Given the description of an element on the screen output the (x, y) to click on. 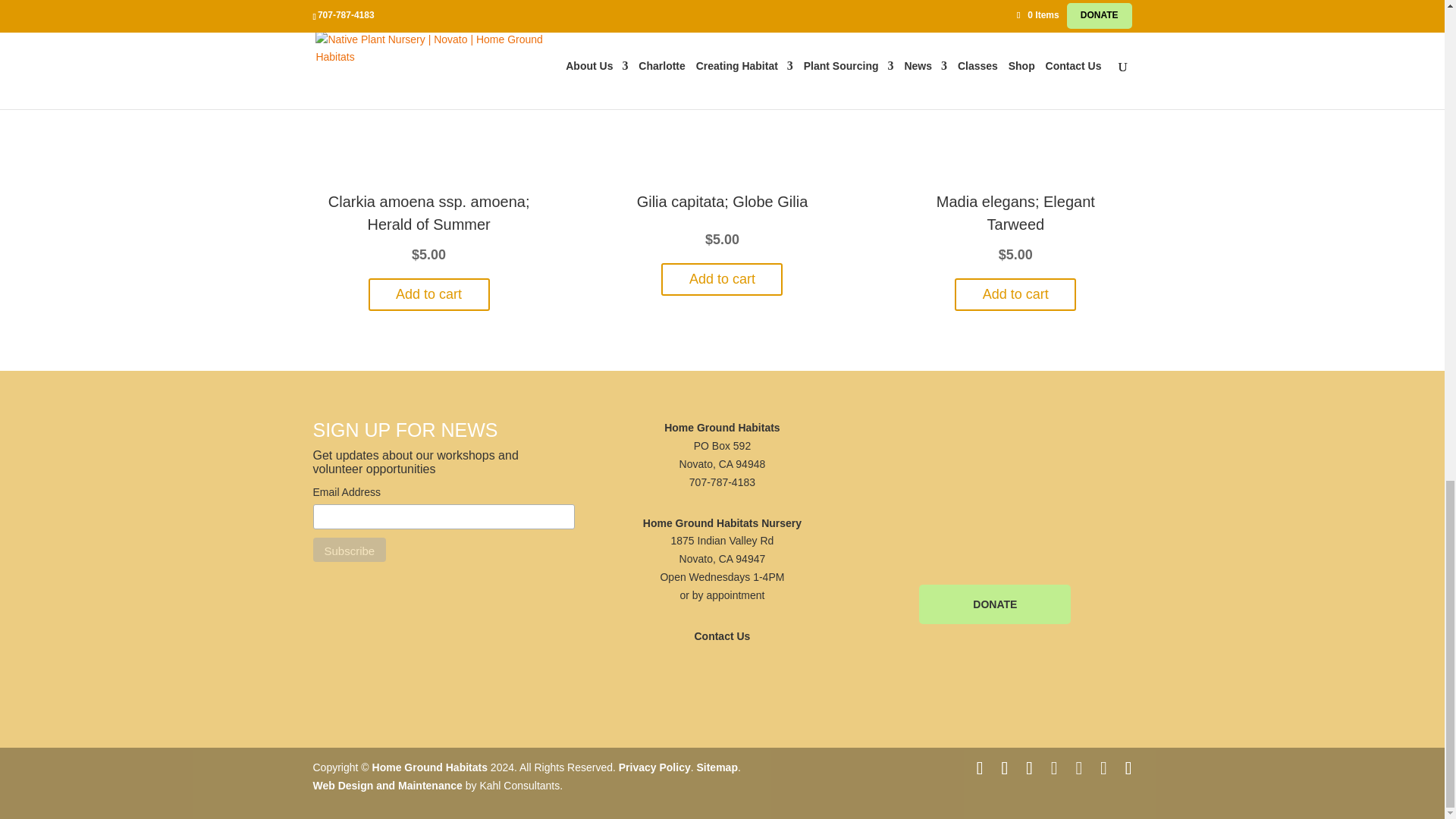
Subscribe (349, 549)
